Given the description of an element on the screen output the (x, y) to click on. 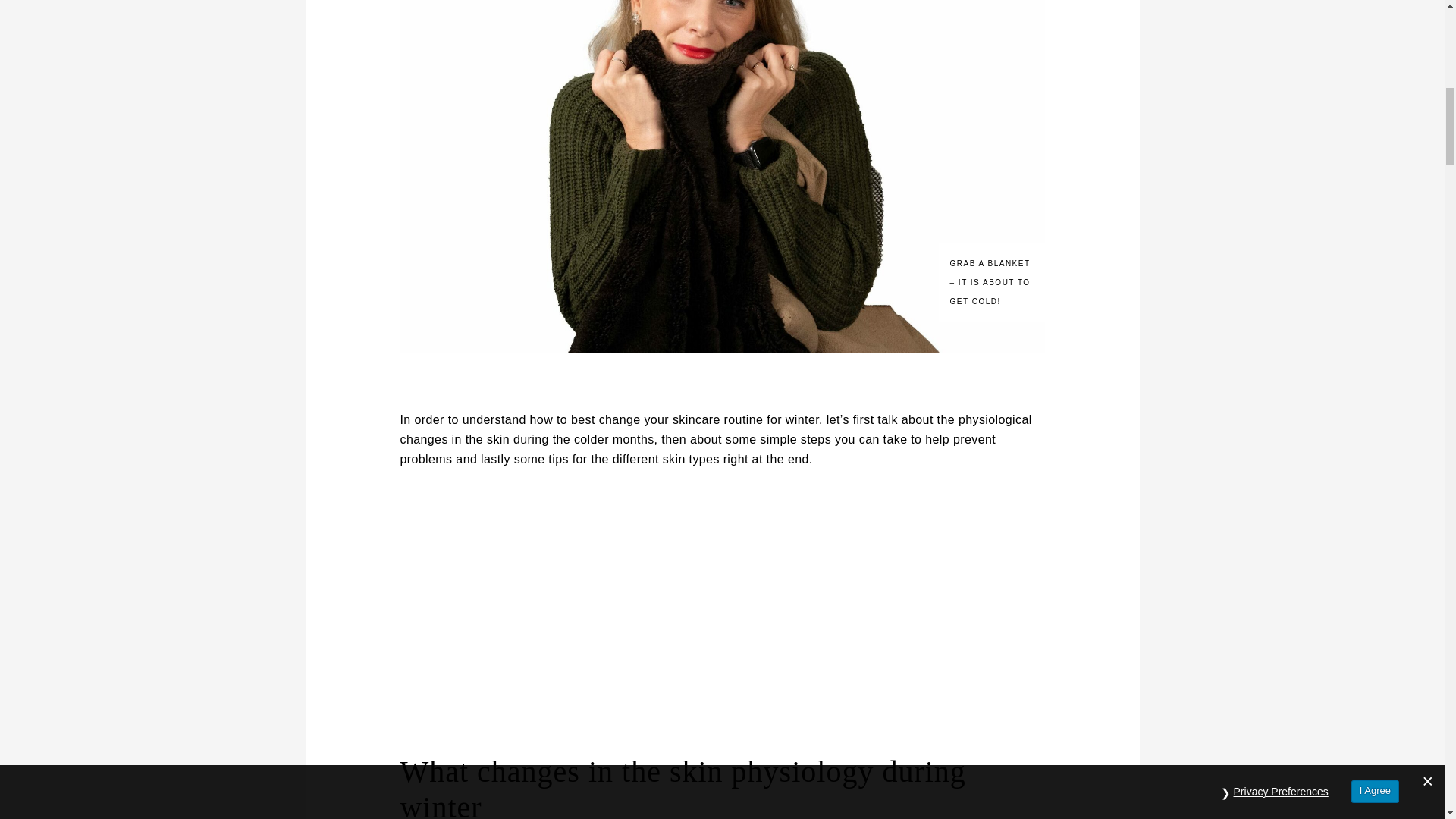
YouTube video player (611, 608)
